Given the description of an element on the screen output the (x, y) to click on. 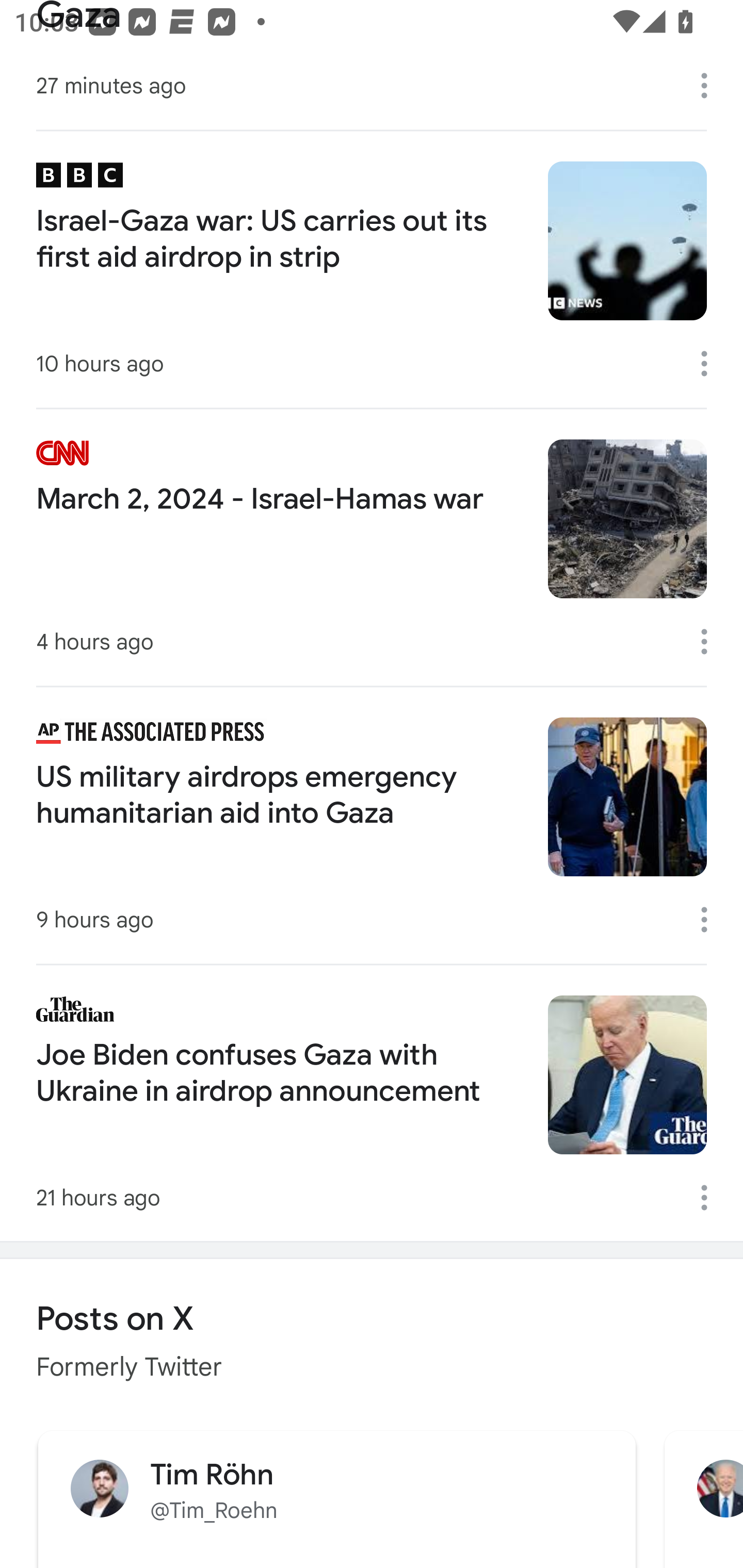
More options (711, 85)
More options (711, 363)
More options (711, 641)
More options (711, 919)
More options (711, 1197)
